Given the description of an element on the screen output the (x, y) to click on. 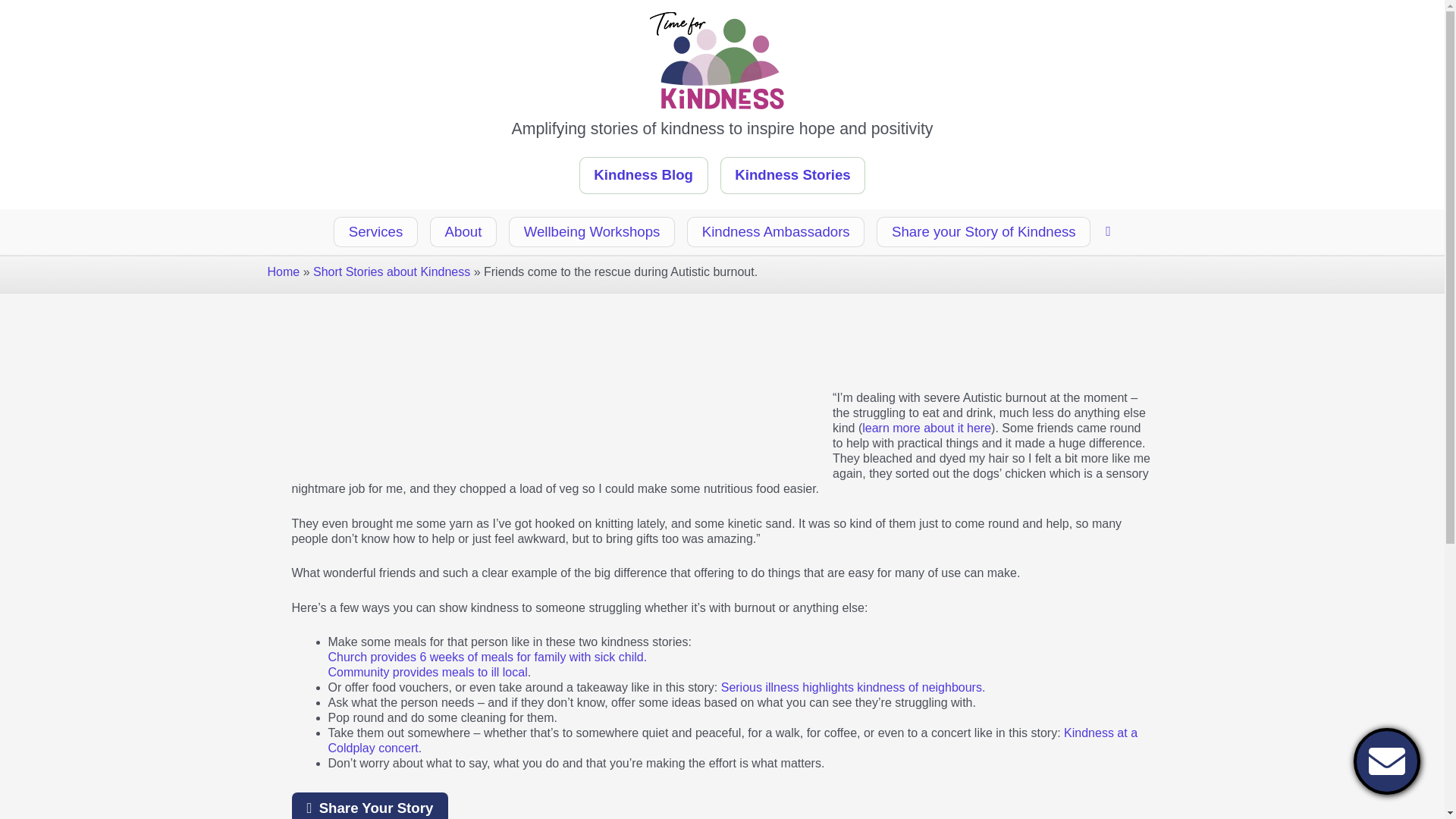
Services (375, 231)
Serious illness highlights kindness of neighbours. (852, 686)
learn more about it here (926, 427)
Share Your Story (369, 805)
Church provides 6 weeks of meals for family with sick child. (486, 656)
Share your Story of Kindness (983, 231)
Community provides meals to ill local (427, 671)
Kindness Stories (793, 175)
Kindness at a Coldplay concert (732, 740)
Kindness Ambassadors (775, 231)
